Given the description of an element on the screen output the (x, y) to click on. 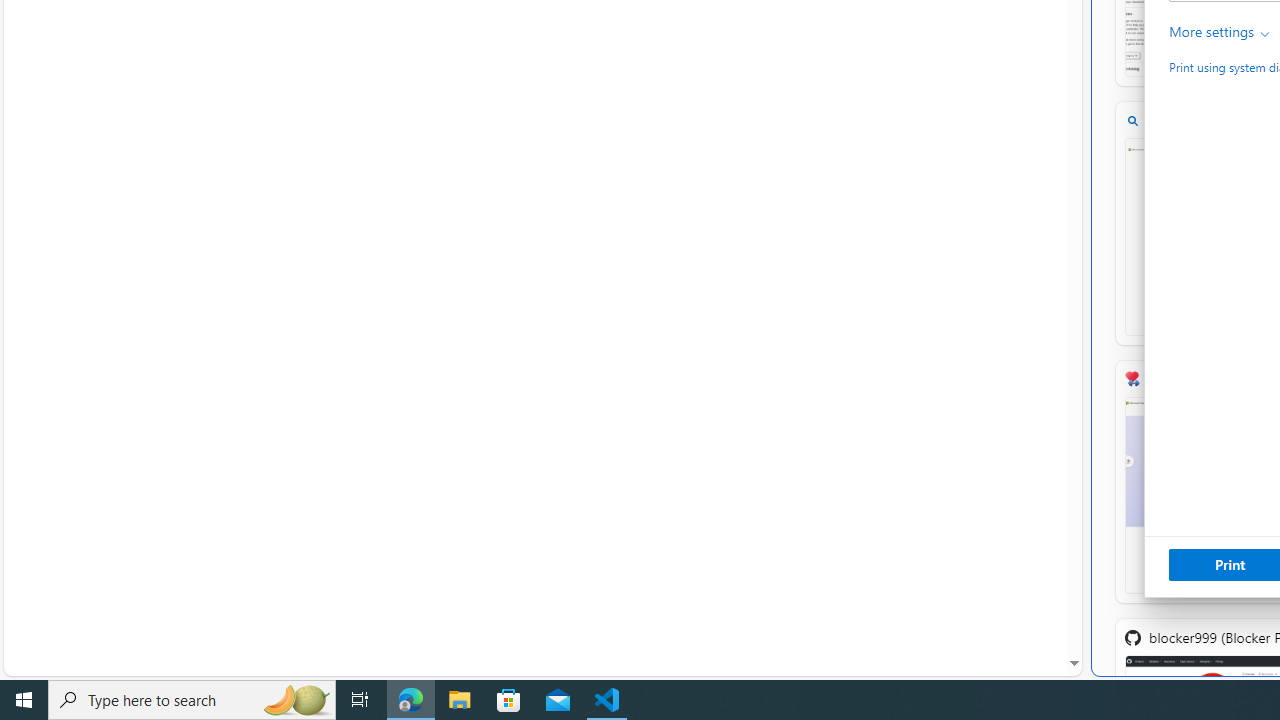
More settings (1220, 32)
Class: c0183 (1265, 34)
